Given the description of an element on the screen output the (x, y) to click on. 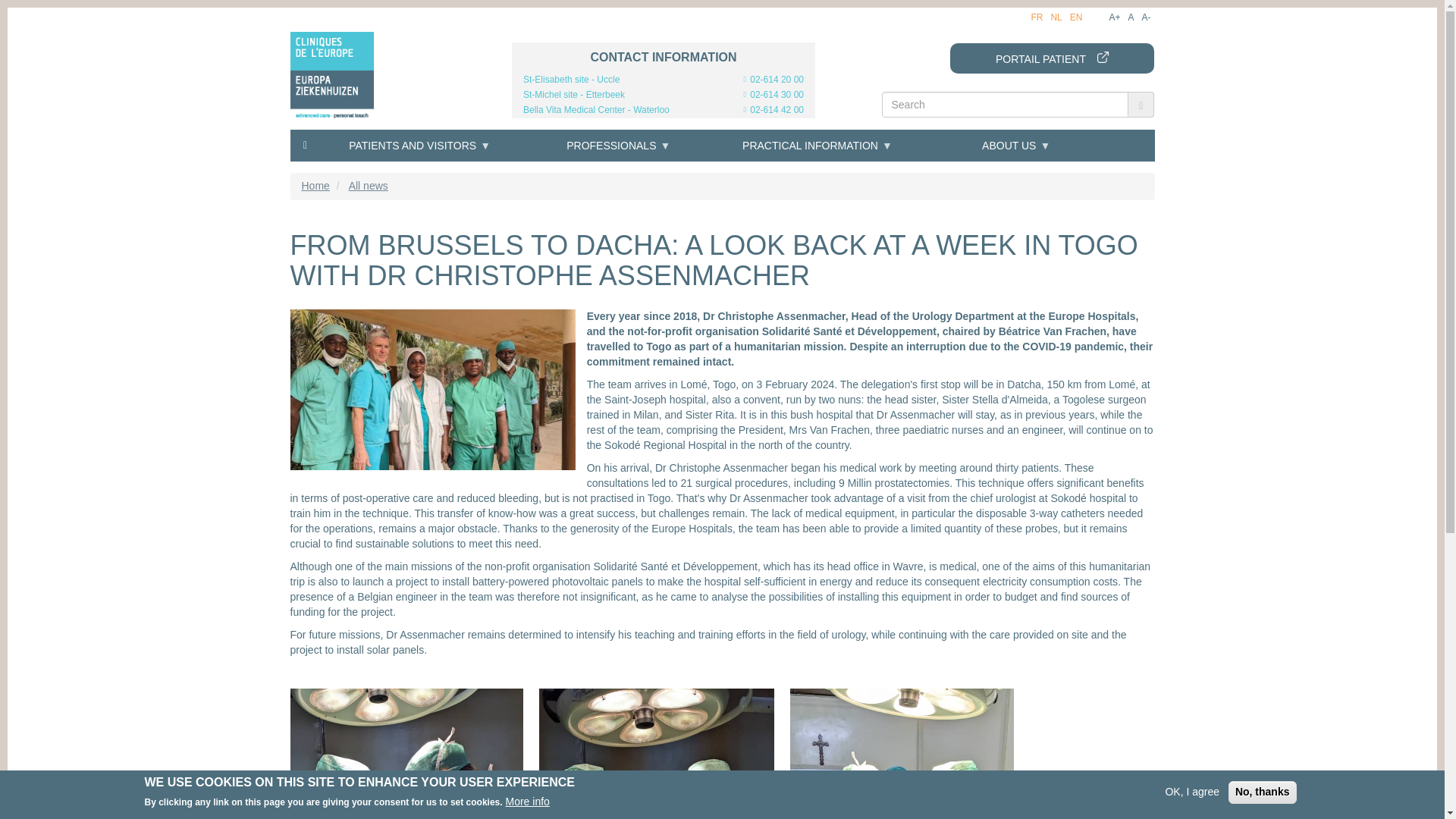
FR (1036, 17)
NL (1055, 17)
OUR MEDICAL AND PARAMEDICAL DEPARTMENTS (387, 273)
OUR OFFER (386, 202)
EN (1076, 17)
PATIENTS AND VISITORS (419, 145)
HOME (304, 144)
OUR PRACTICIANS AND HEALTHCARE PROVIDERS (387, 246)
PORTAIL PATIENT (1051, 58)
